Given the description of an element on the screen output the (x, y) to click on. 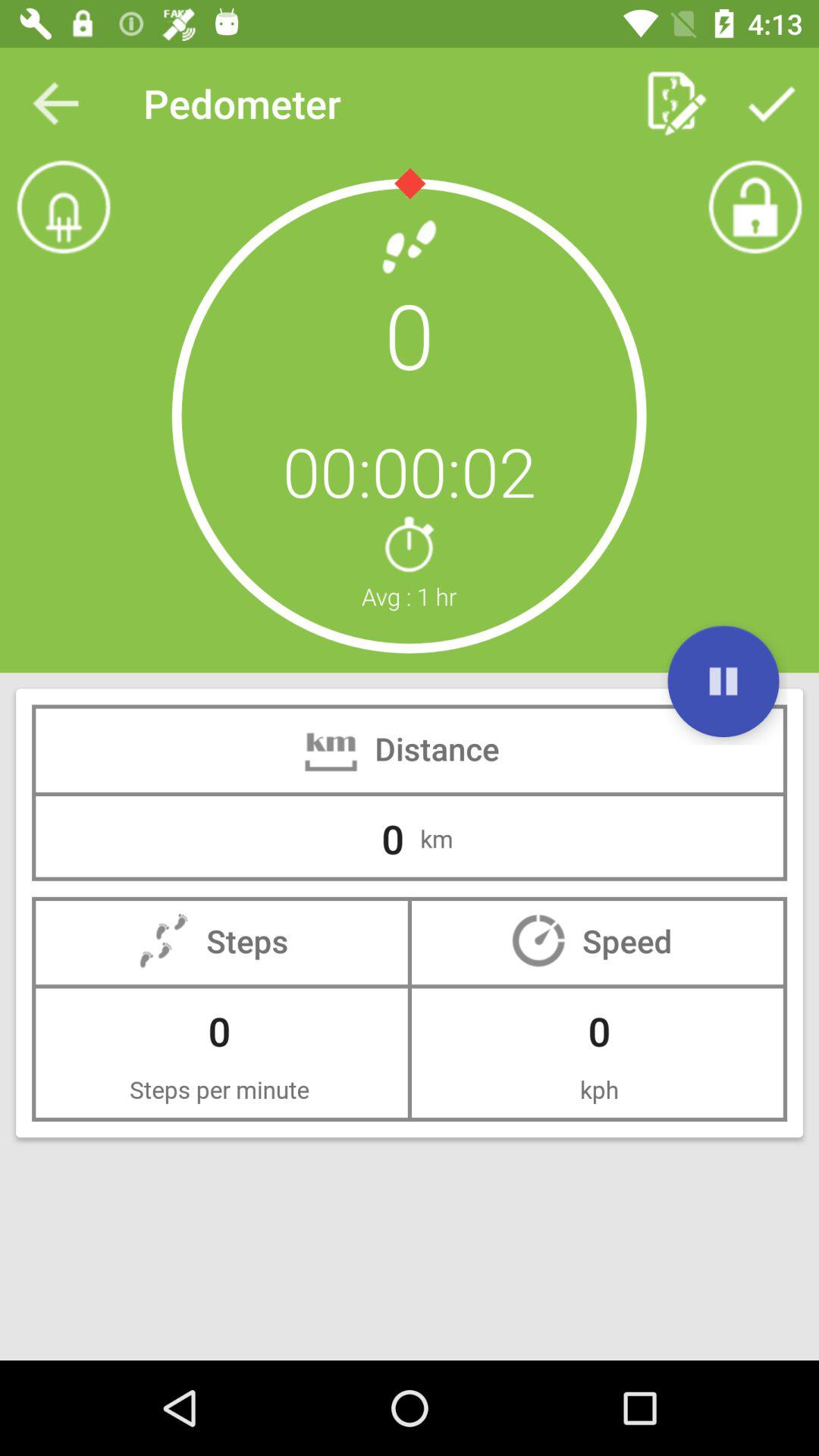
click the pause button (723, 681)
